Given the description of an element on the screen output the (x, y) to click on. 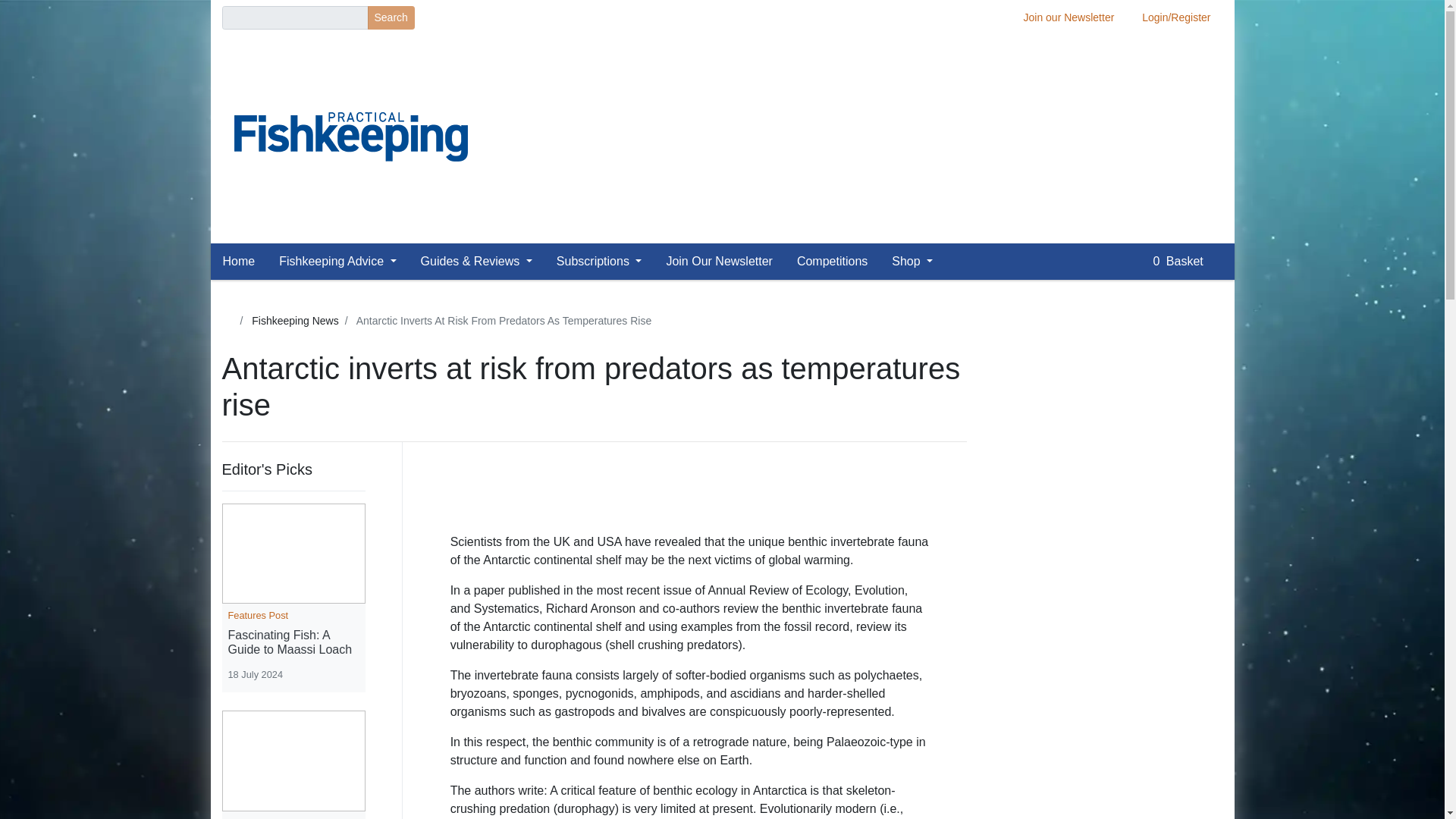
Subscriptions (598, 261)
Competitions (831, 261)
Search (389, 17)
Home (244, 261)
Fascinating Fish: A Guide to Maassi Loach (292, 642)
Join our Newsletter (1068, 17)
0 Basket (1187, 261)
Shop (911, 261)
Fishkeeping Advice (336, 261)
Join Our Newsletter (718, 261)
